Given the description of an element on the screen output the (x, y) to click on. 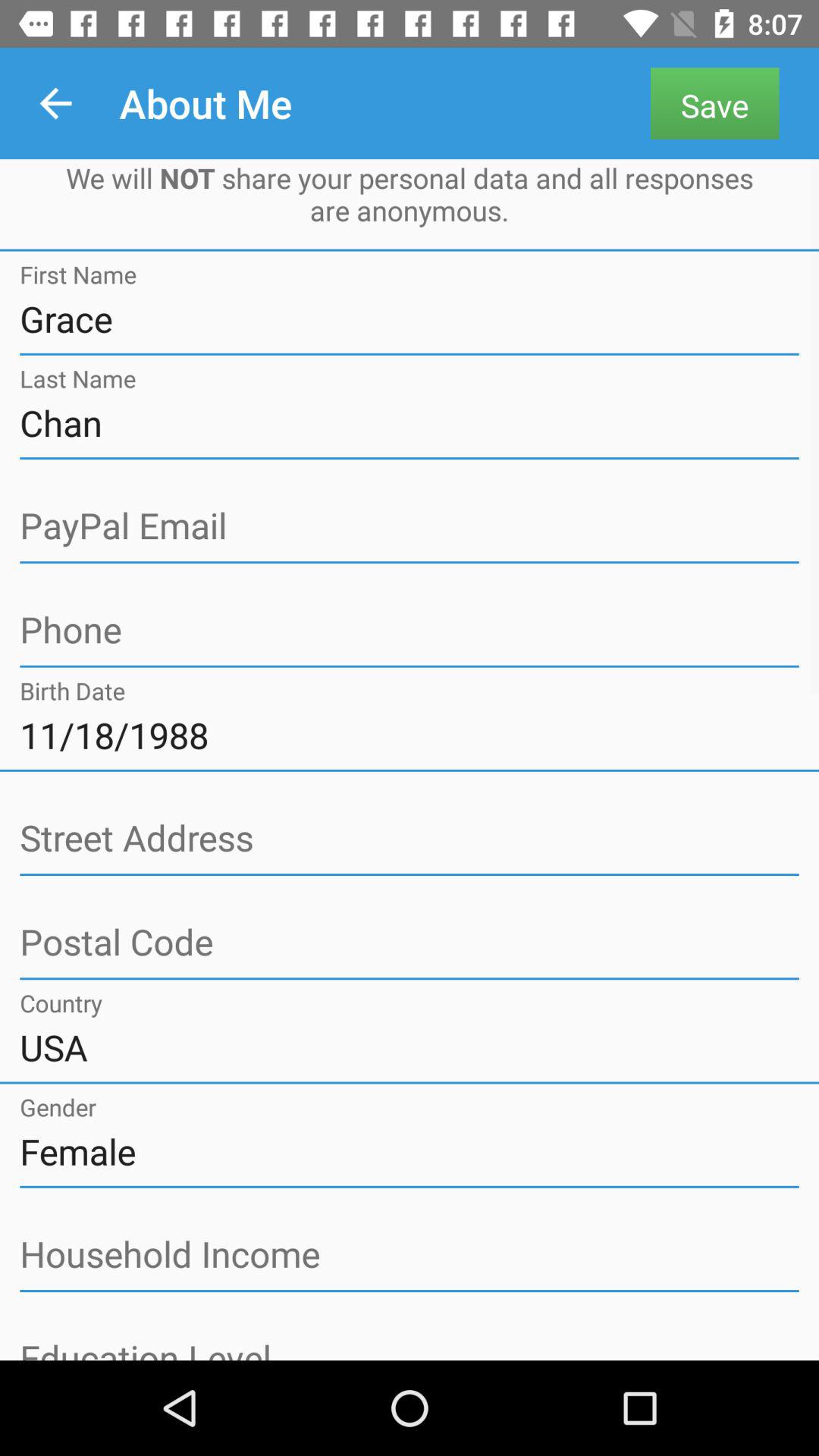
enter paypal email (409, 526)
